Given the description of an element on the screen output the (x, y) to click on. 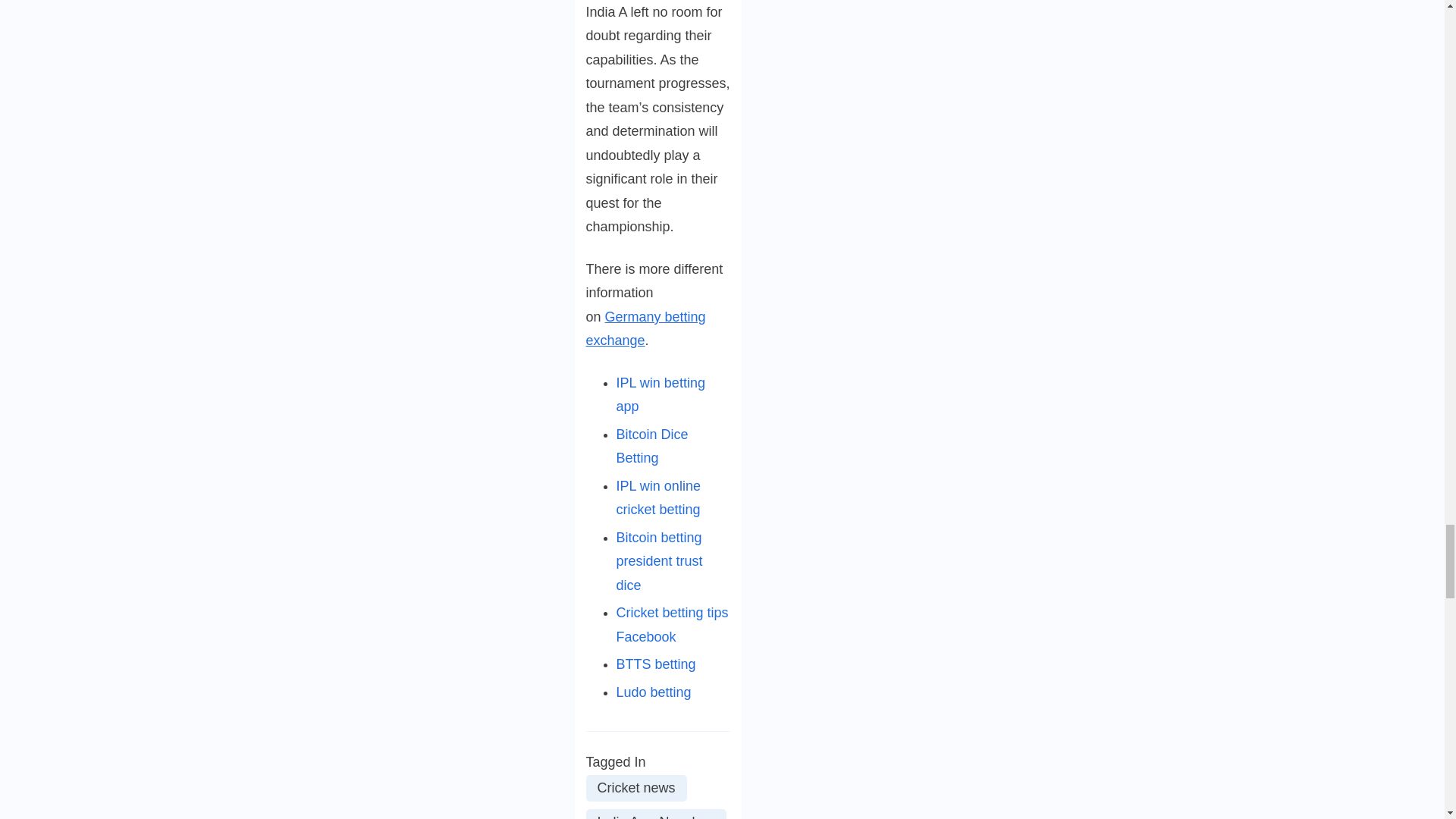
Bitcoin Dice Betting (651, 446)
Germany betting exchange (644, 328)
IPL win betting app (659, 394)
